Given the description of an element on the screen output the (x, y) to click on. 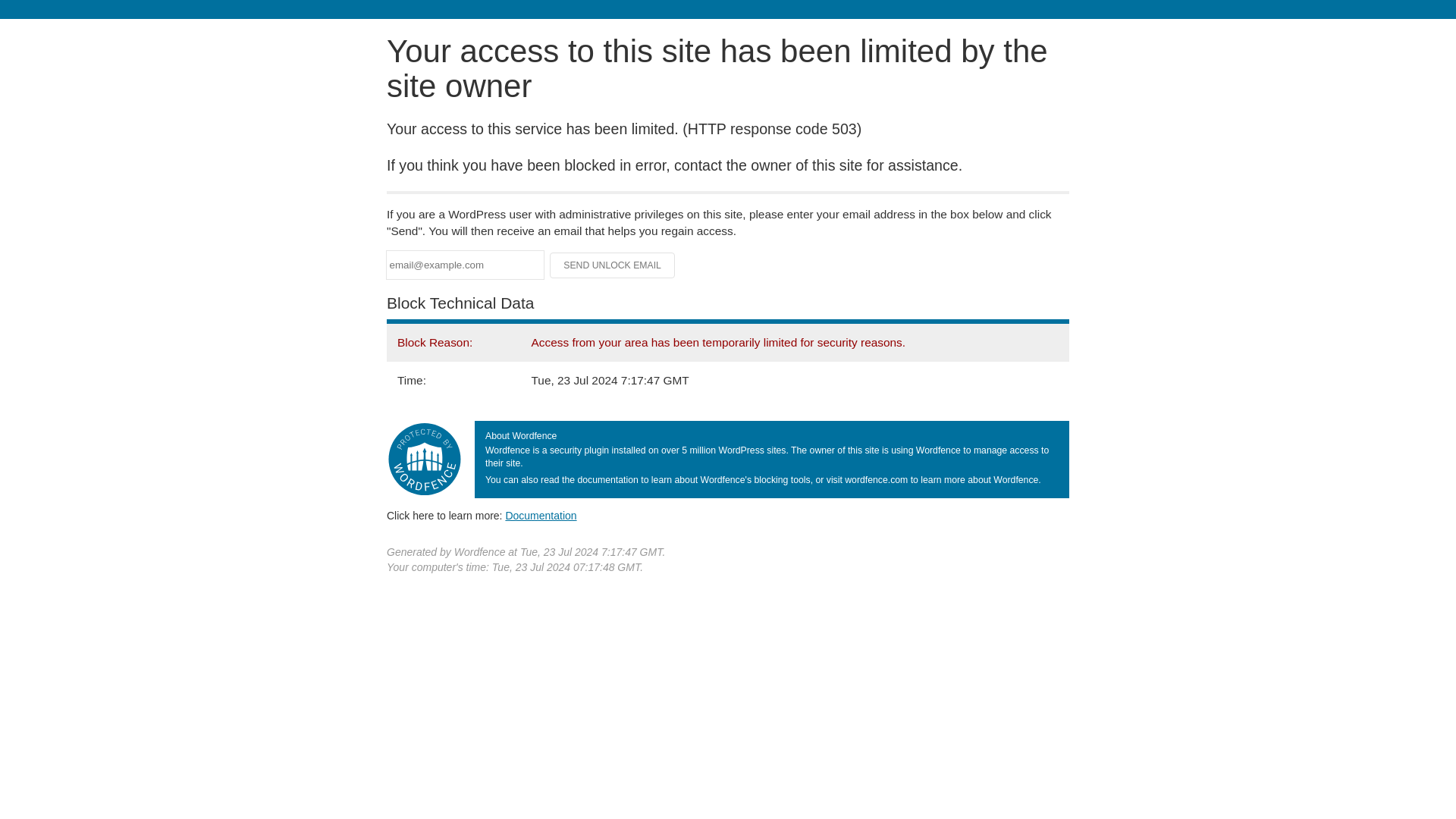
Send Unlock Email (612, 265)
Documentation (540, 515)
Send Unlock Email (612, 265)
